Given the description of an element on the screen output the (x, y) to click on. 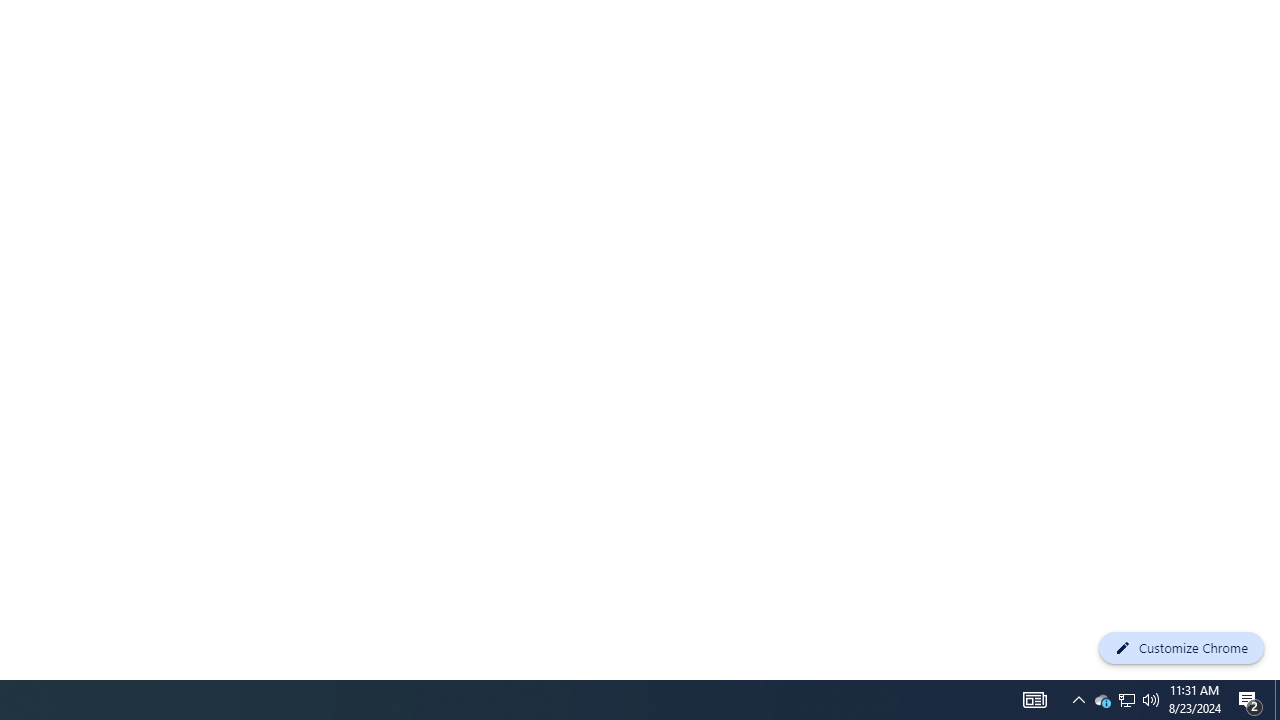
Customize Chrome (1181, 647)
